Given the description of an element on the screen output the (x, y) to click on. 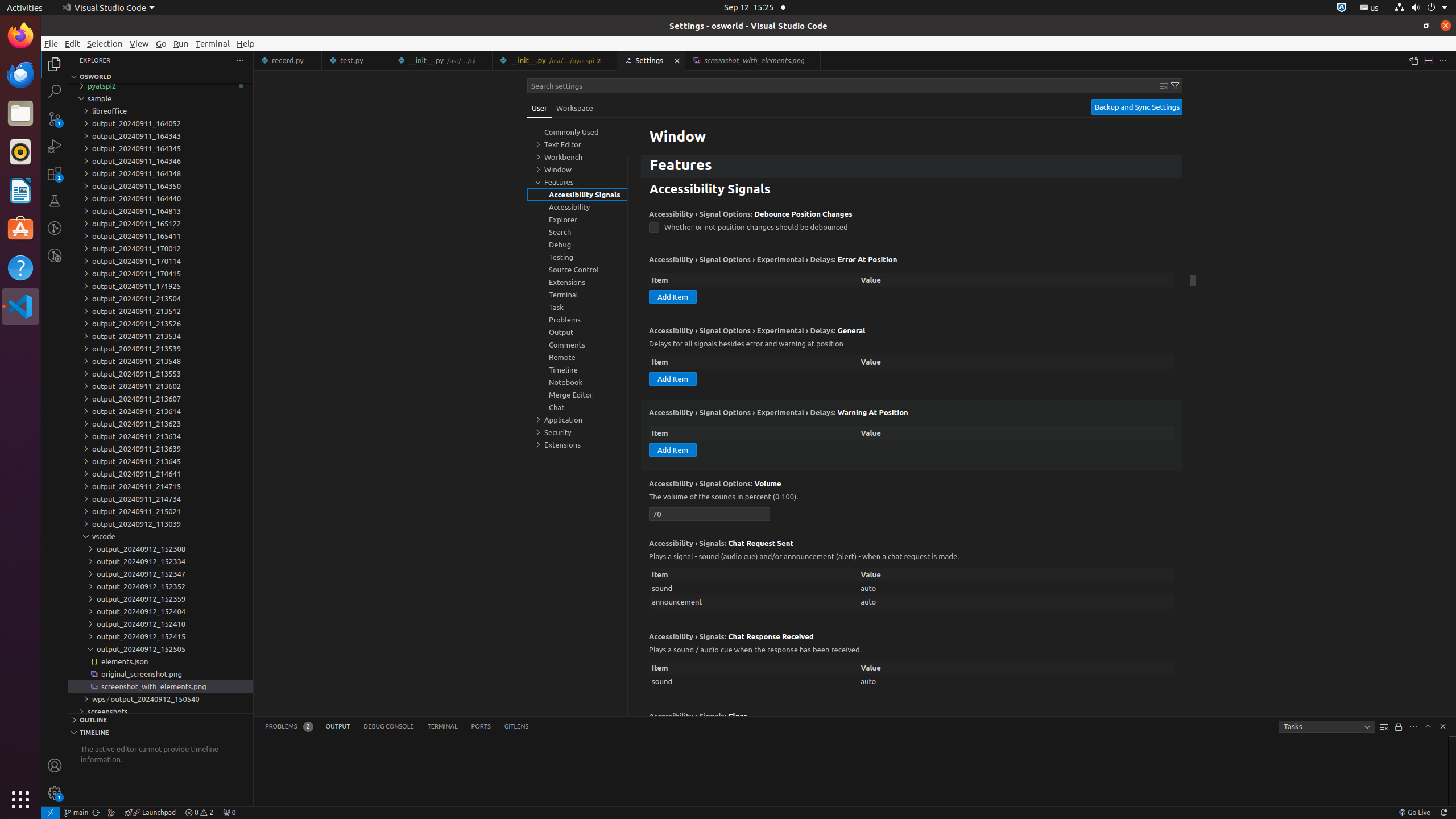
Add Item Element type: push-button (672, 297)
Chat, group Element type: tree-item (577, 406)
View Element type: push-button (139, 43)
Accessibility › Signals Clear. Plays a signal - sound (audio cue) and/or announcement (alert) - when a feature is cleared (for example, the terminal, Debug Console, or Output channel).  Element type: tree-item (911, 750)
output_20240911_214734 Element type: tree-item (160, 498)
